Given the description of an element on the screen output the (x, y) to click on. 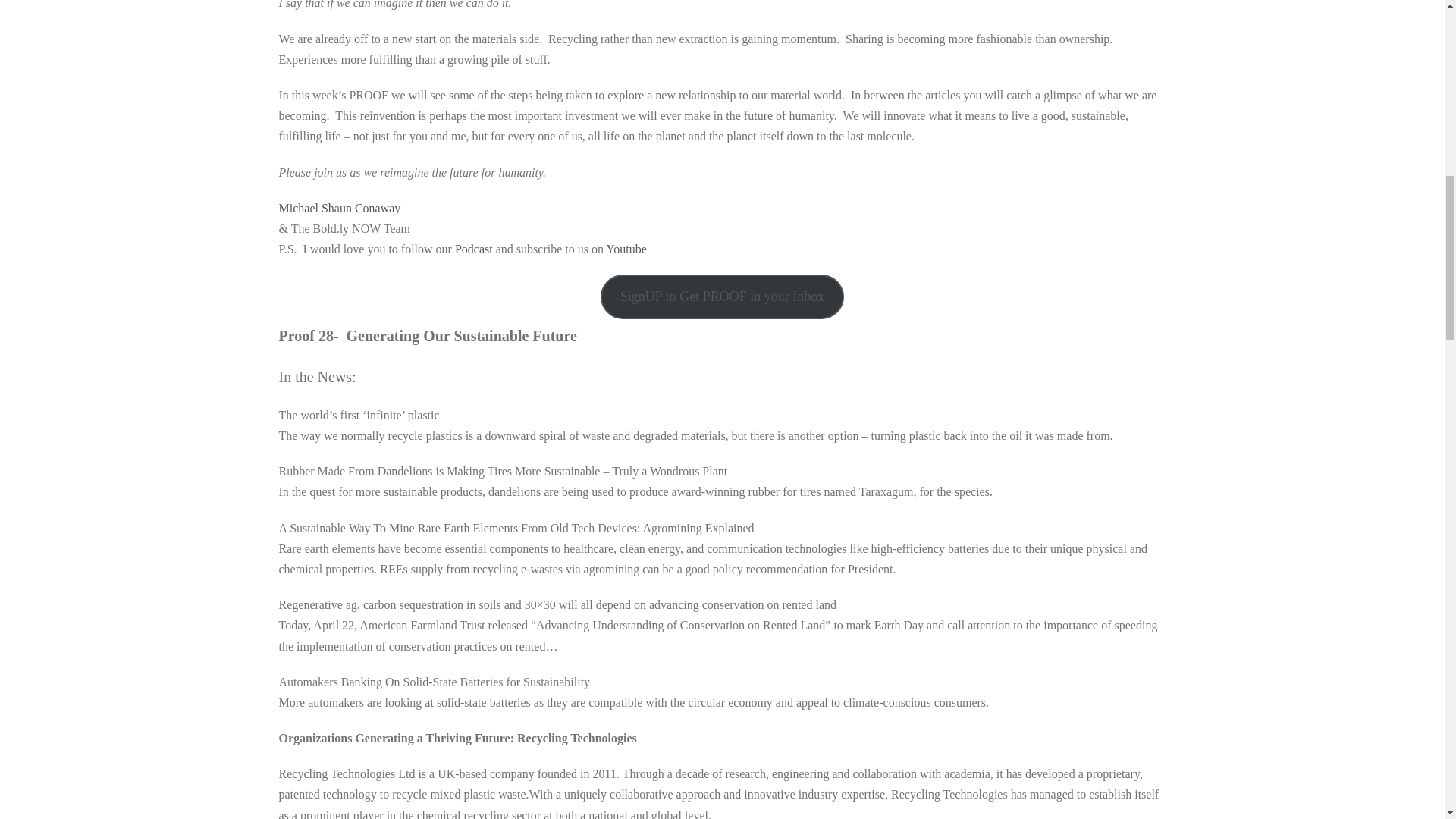
Youtube (625, 248)
Michael Shaun Conaway (340, 207)
Podcast (473, 248)
SignUP to Get PROOF in your Inbox (721, 296)
